Given the description of an element on the screen output the (x, y) to click on. 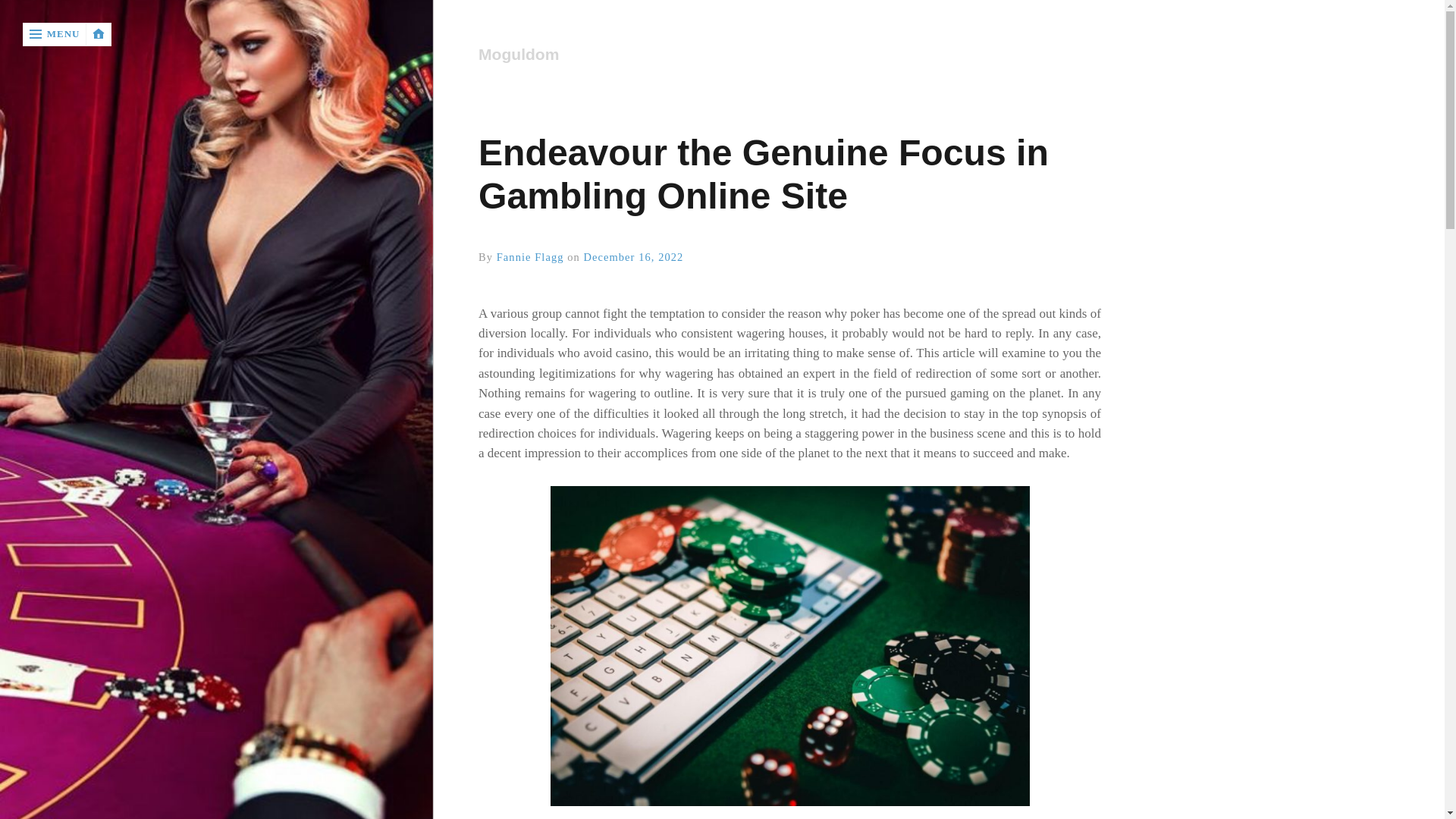
Fannie Flagg (530, 256)
Home (789, 54)
December 16, 2022 (633, 256)
Moguldom (788, 54)
View all posts by Fannie Flagg (530, 256)
6:23 am (633, 256)
MENU (55, 33)
